Given the description of an element on the screen output the (x, y) to click on. 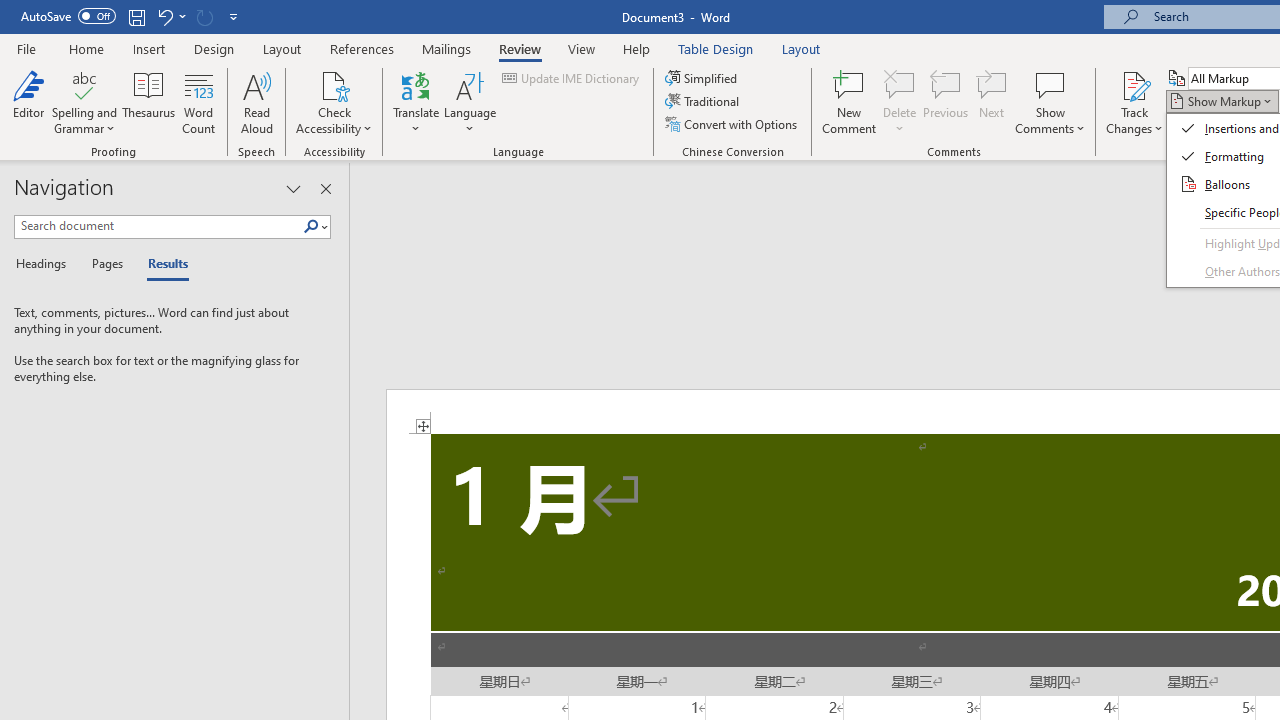
Delete (900, 84)
New Comment (849, 102)
Previous (946, 102)
Show Comments (1050, 102)
Delete (900, 102)
Word Count (198, 102)
Translate (415, 102)
Can't Repeat (204, 15)
Check Accessibility (334, 84)
Simplified (702, 78)
